Given the description of an element on the screen output the (x, y) to click on. 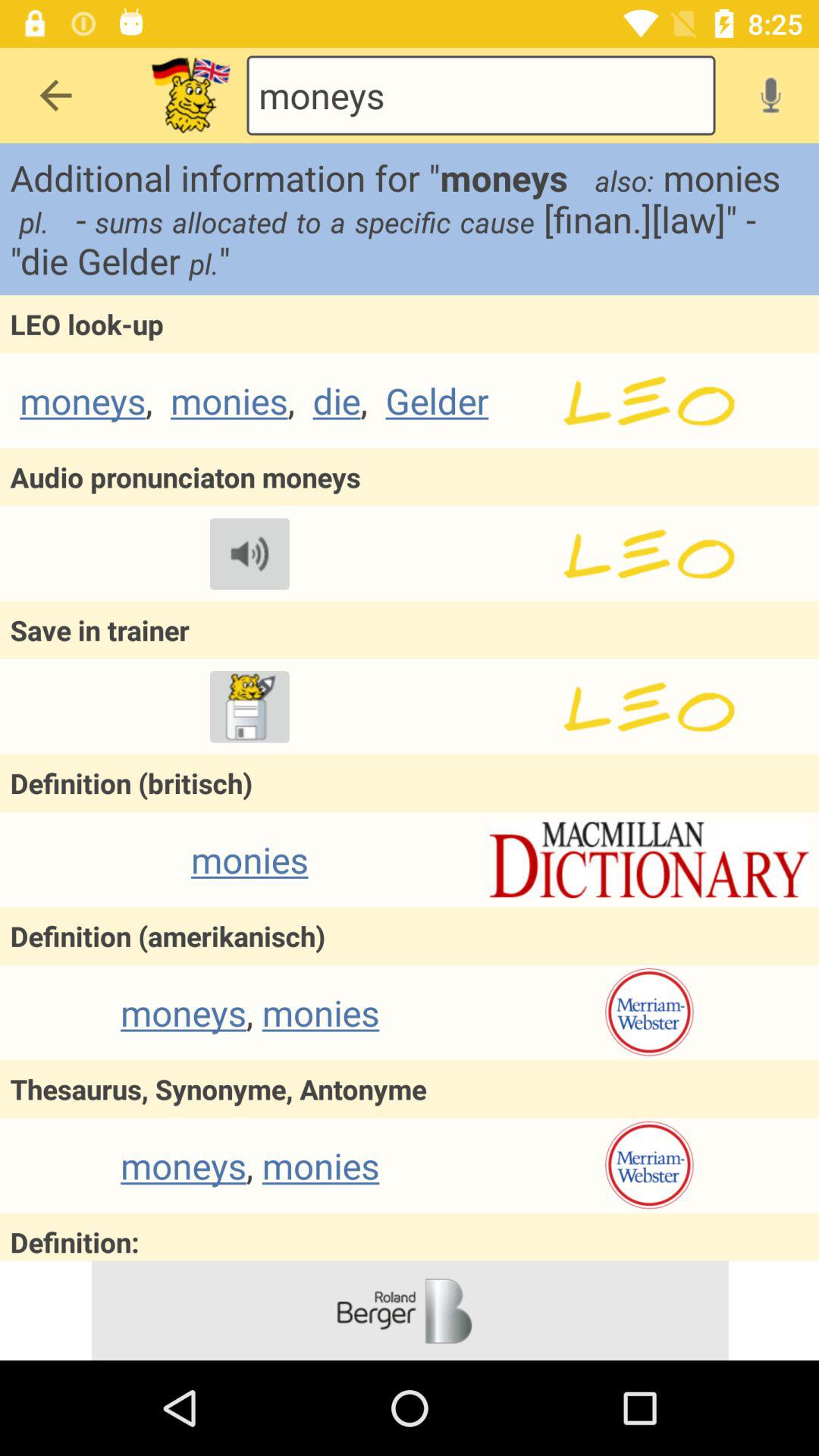
go to merriam webster website (648, 1012)
